Given the description of an element on the screen output the (x, y) to click on. 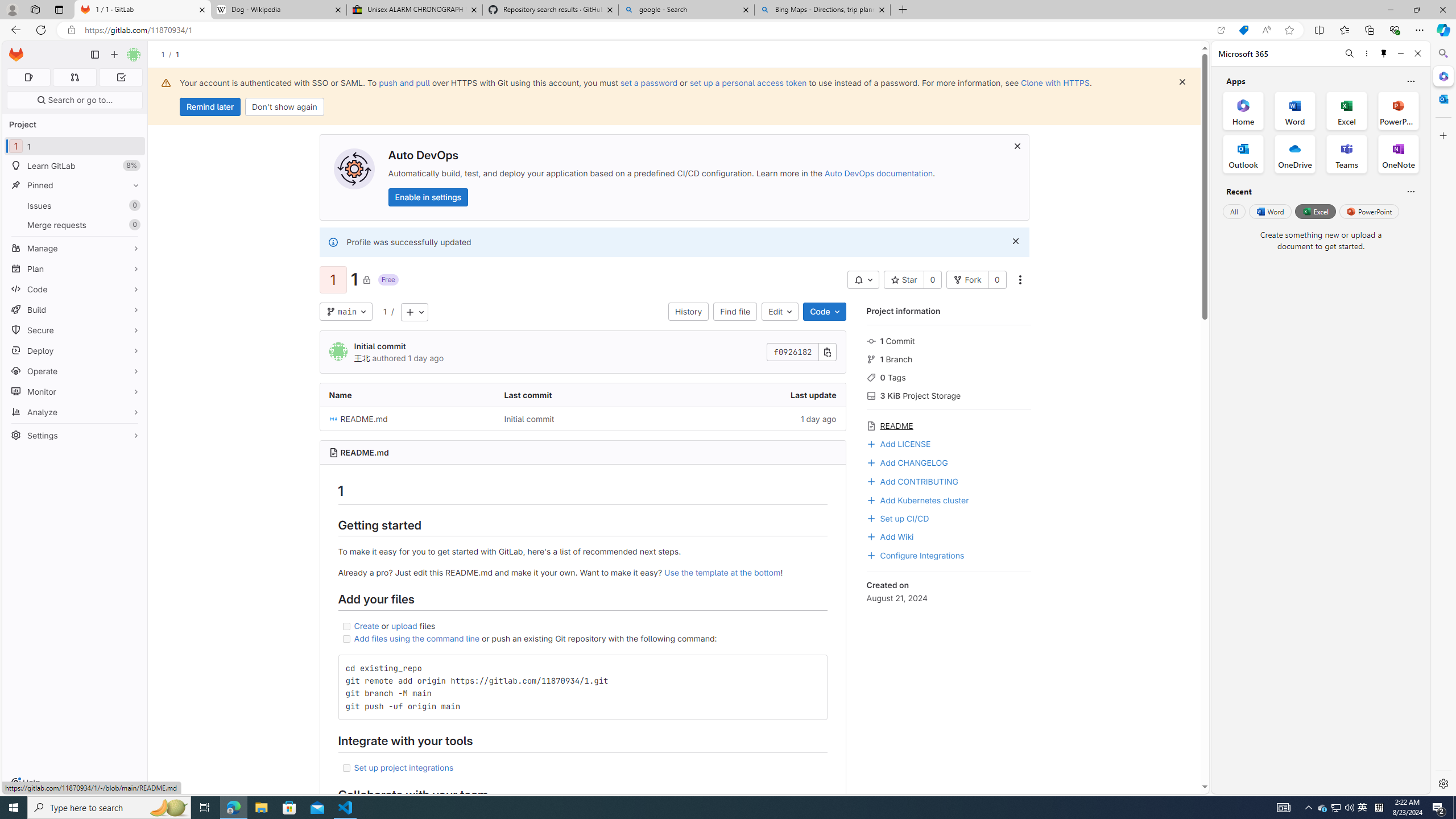
Excel (1315, 210)
Unpin Issues (132, 205)
Dog - Wikipedia (277, 9)
1 Commit (948, 340)
Remind later (210, 106)
0 Tags (948, 376)
Configure Integrations (948, 554)
Deploy (74, 350)
Operate (74, 370)
Add to tree (414, 312)
To-Do list 0 (120, 76)
3 KiB Project Storage (948, 394)
